Given the description of an element on the screen output the (x, y) to click on. 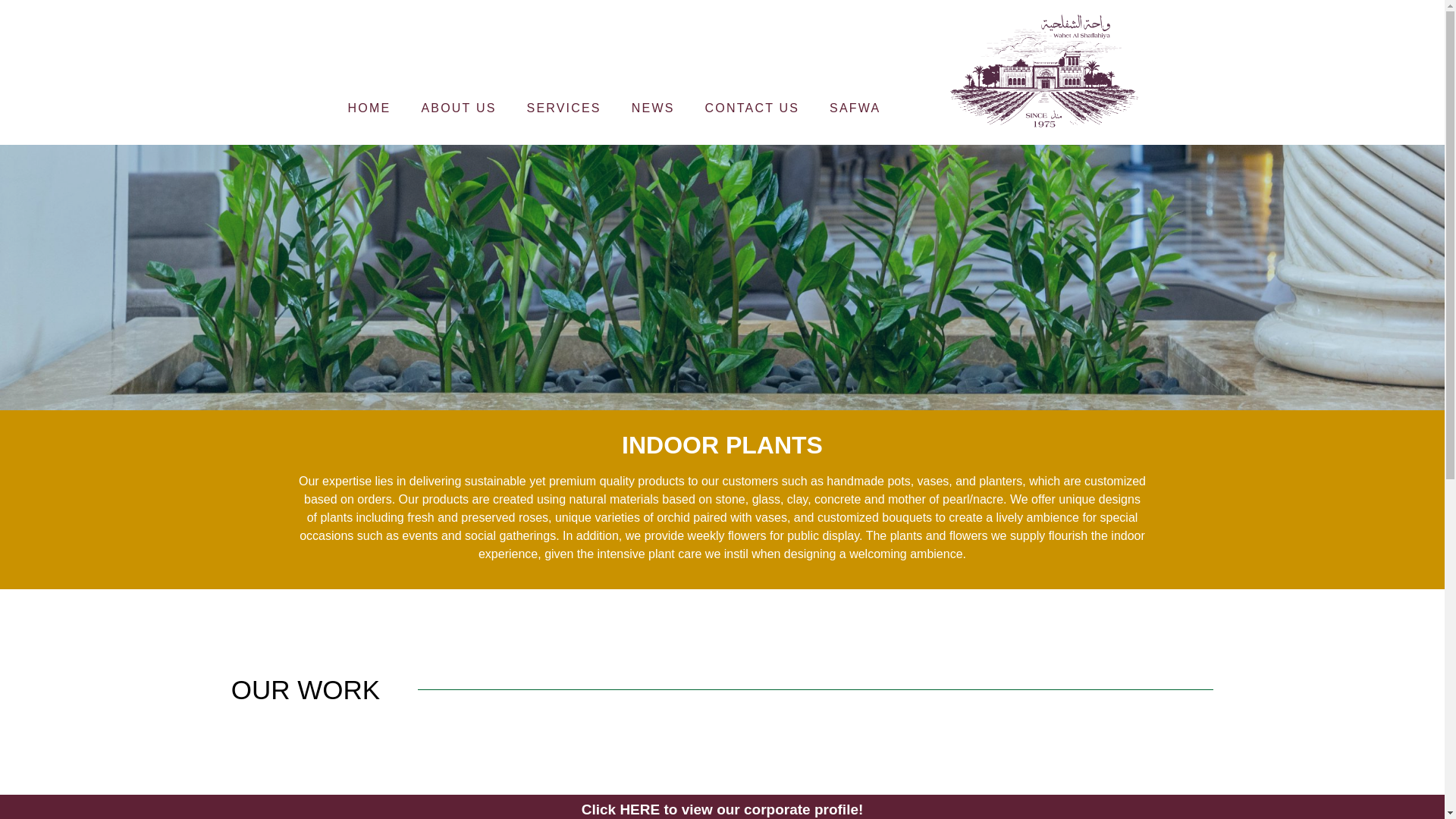
SAFWA (854, 108)
SERVICES (563, 108)
Page 18 (722, 517)
NEWS (652, 108)
Click HERE to view our corporate profile! (721, 809)
CONTACT US (752, 108)
HOME (369, 108)
ABOUT US (458, 108)
